Given the description of an element on the screen output the (x, y) to click on. 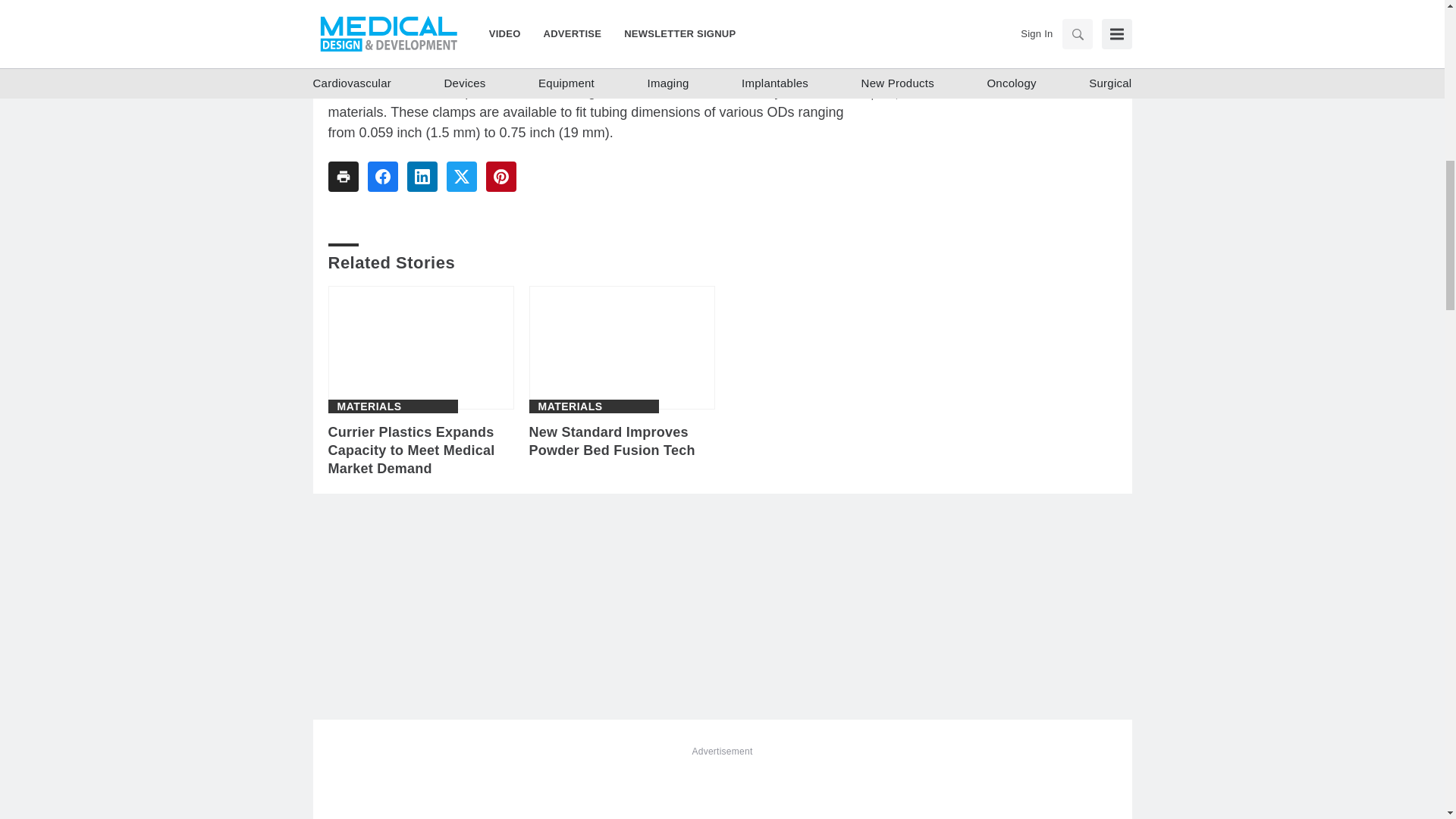
Share To print (342, 176)
Share To facebook (381, 176)
Share To twitter (460, 176)
Share To pinterest (499, 176)
Share To linkedin (421, 176)
